Given the description of an element on the screen output the (x, y) to click on. 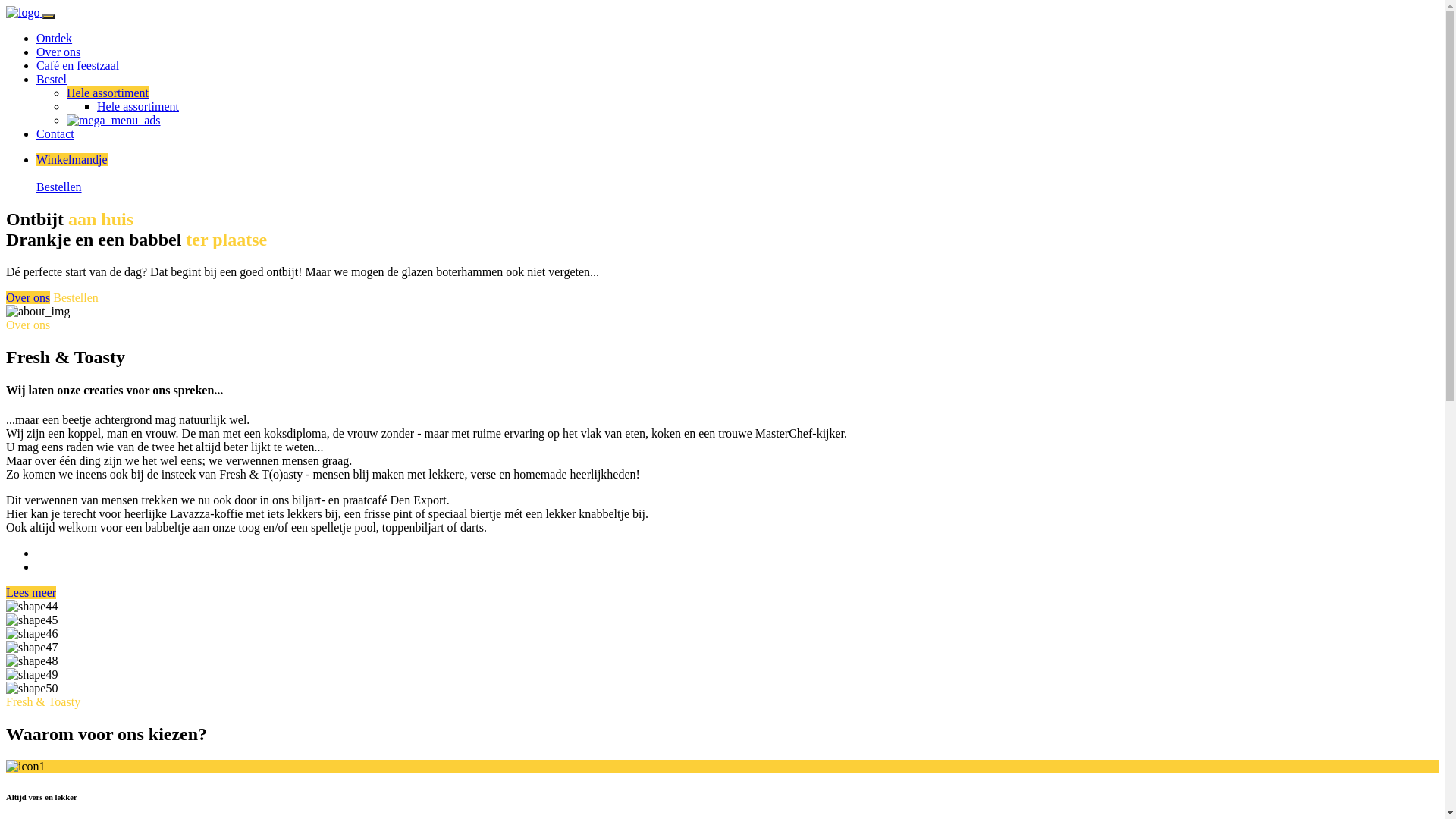
Contact Element type: text (55, 133)
Bestellen Element type: text (58, 186)
Hele assortiment Element type: text (137, 106)
Bestellen Element type: text (75, 297)
Bestel Element type: text (51, 78)
Winkelmandje Element type: text (71, 159)
Lees meer Element type: text (31, 592)
Over ons Element type: text (58, 51)
Hele assortiment Element type: text (107, 92)
Over ons Element type: text (28, 297)
Ontdek Element type: text (54, 37)
